Given the description of an element on the screen output the (x, y) to click on. 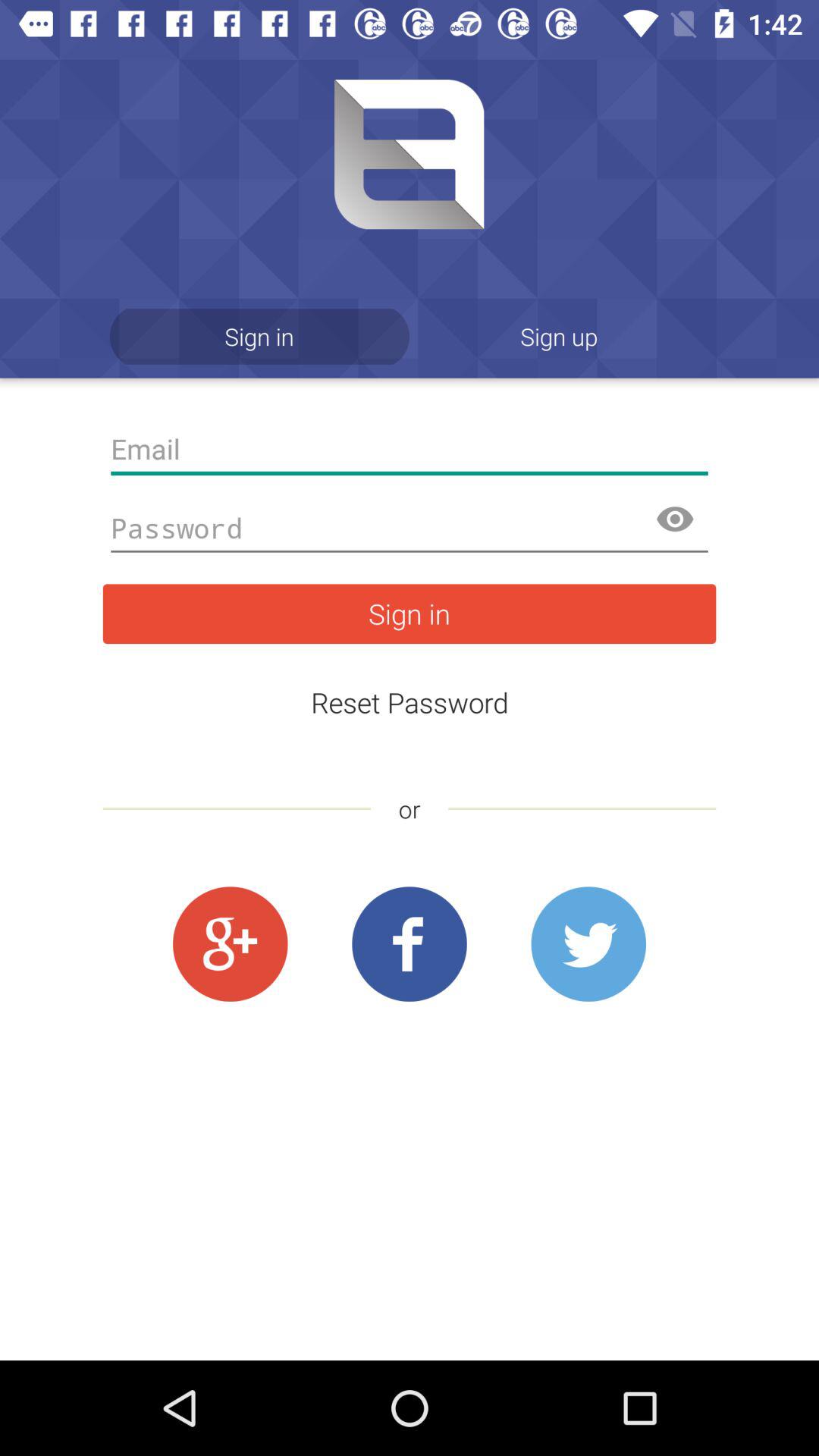
select icon at the top right corner (559, 336)
